Given the description of an element on the screen output the (x, y) to click on. 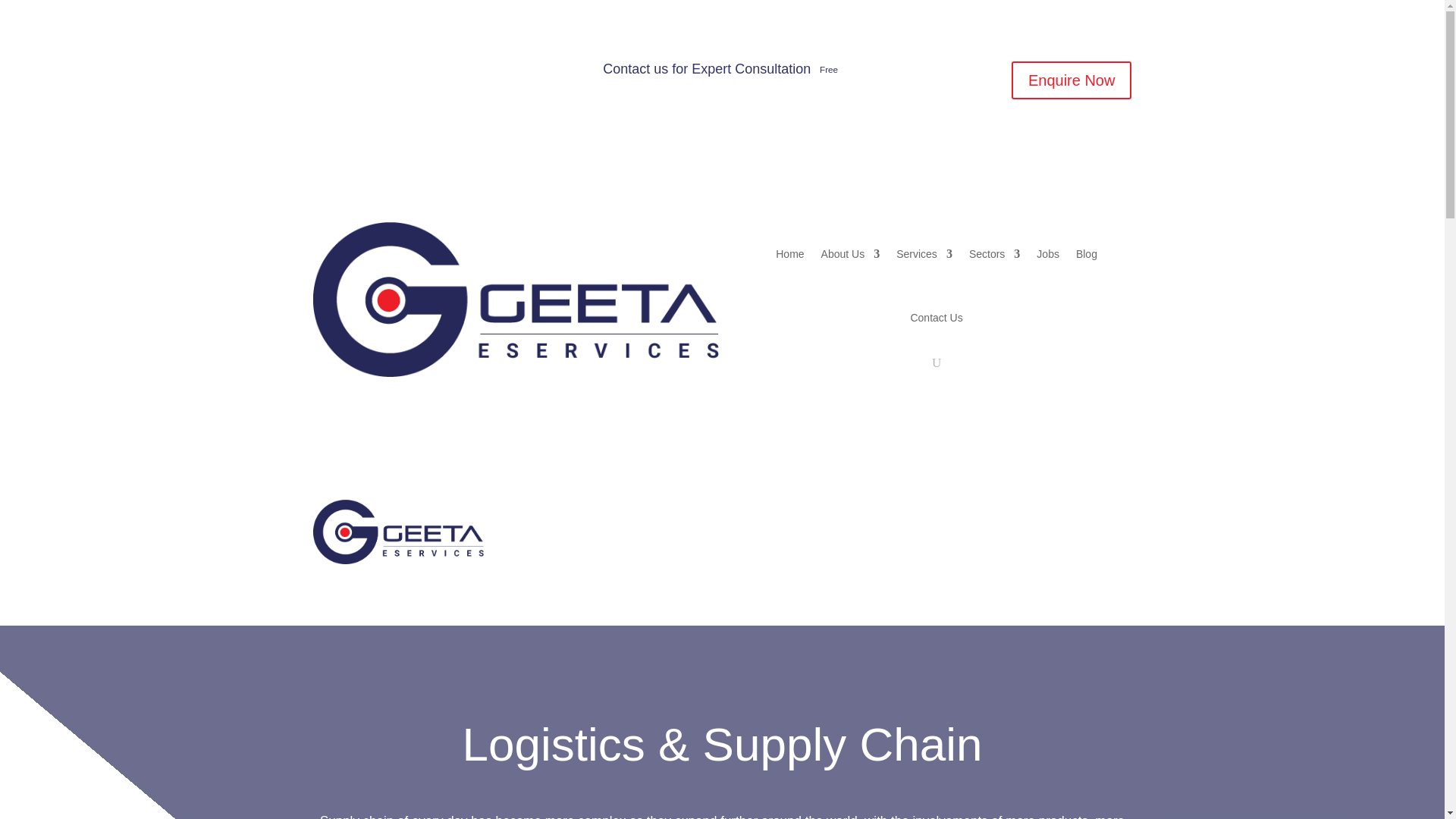
Home (557, 514)
Enquire Now (1071, 80)
Follow on Facebook (324, 73)
Follow on LinkedIn (384, 73)
About Us (625, 514)
About Us (850, 253)
Follow on Instagram (354, 73)
Geeta eServices Home (557, 514)
Services (697, 514)
FINAL-LOGO trimed (398, 532)
